Given the description of an element on the screen output the (x, y) to click on. 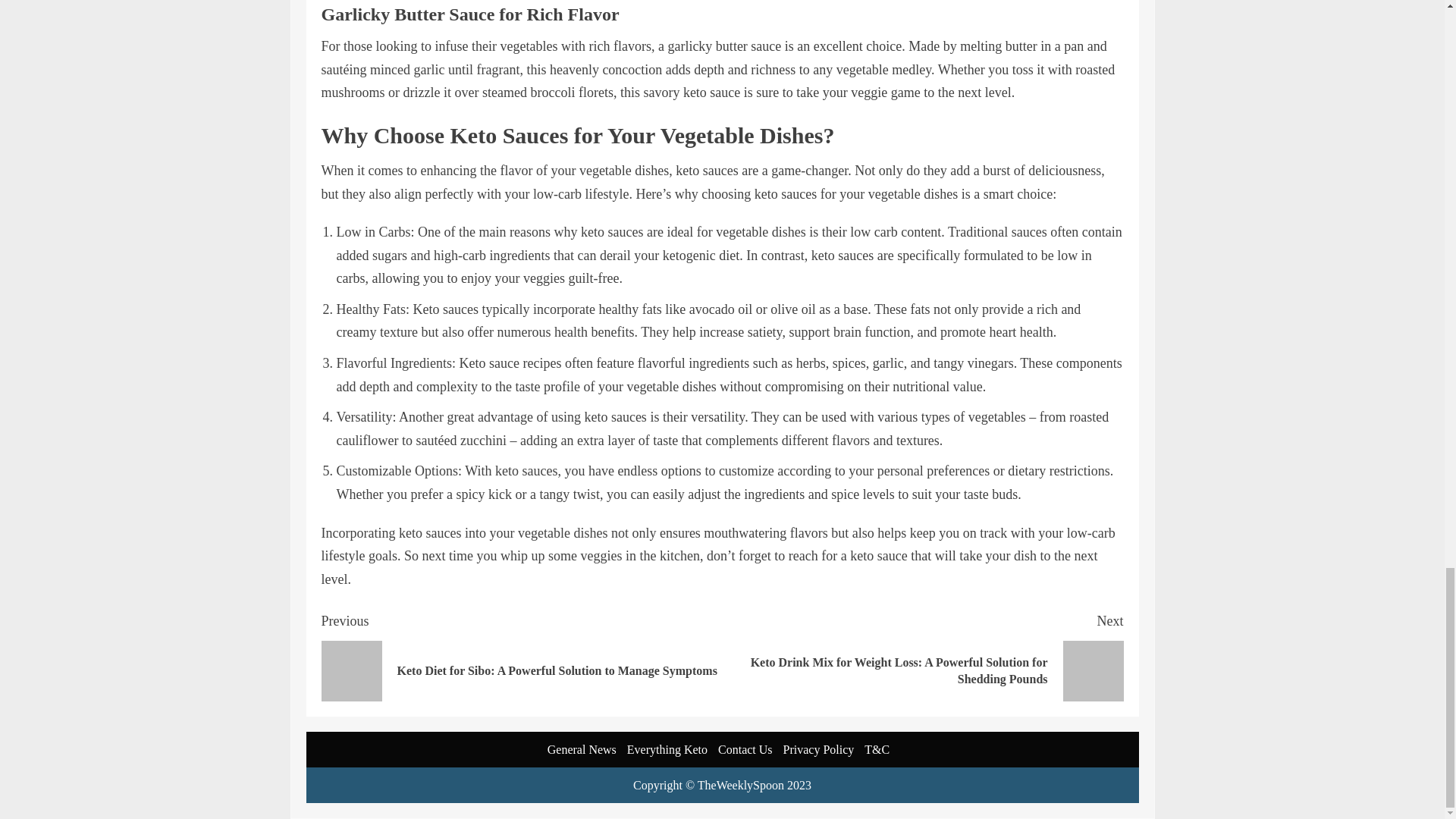
Privacy Policy (818, 748)
Contact Us (745, 748)
General News (581, 748)
Everything Keto (667, 748)
